Given the description of an element on the screen output the (x, y) to click on. 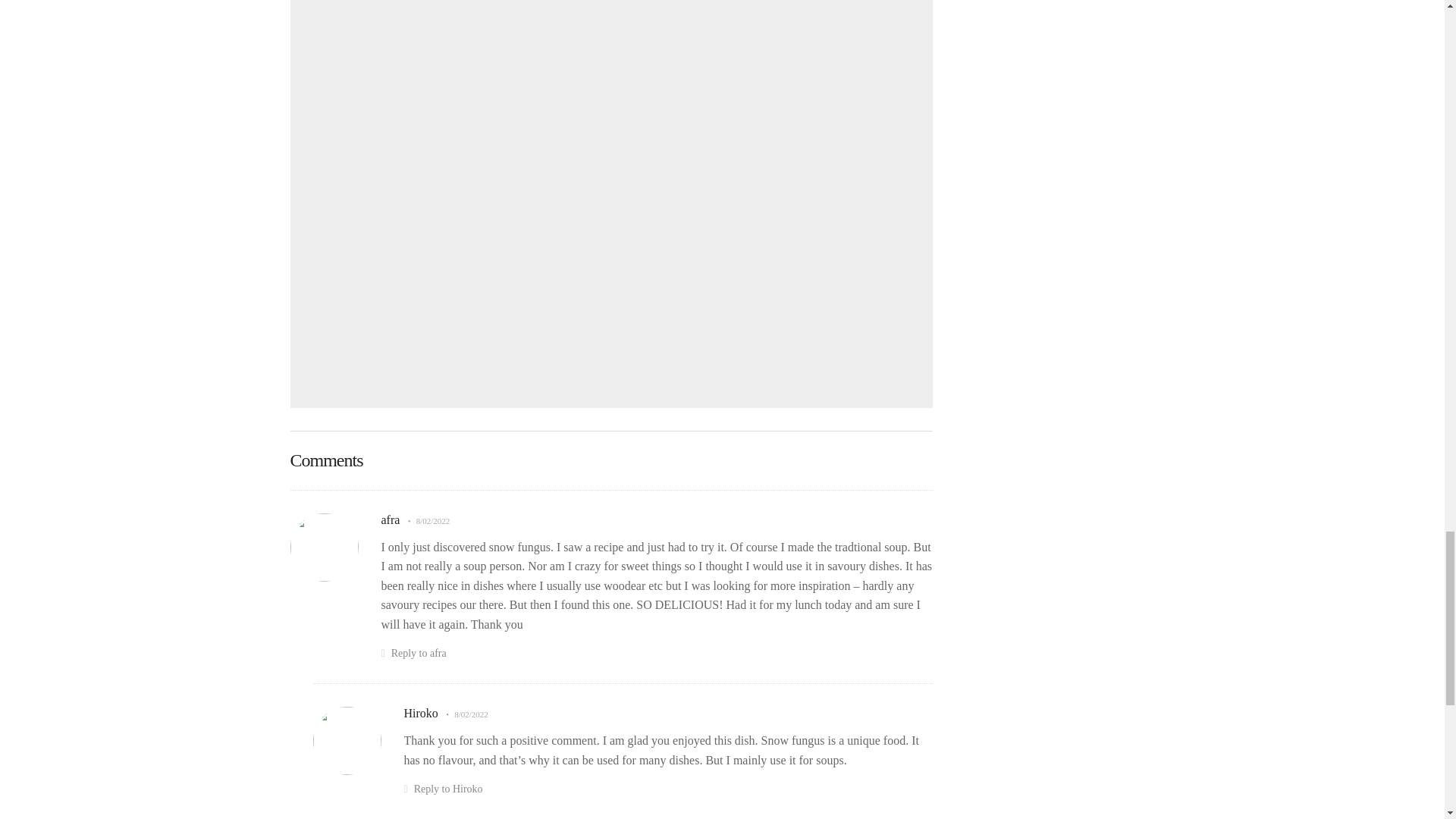
afra (389, 519)
